Given the description of an element on the screen output the (x, y) to click on. 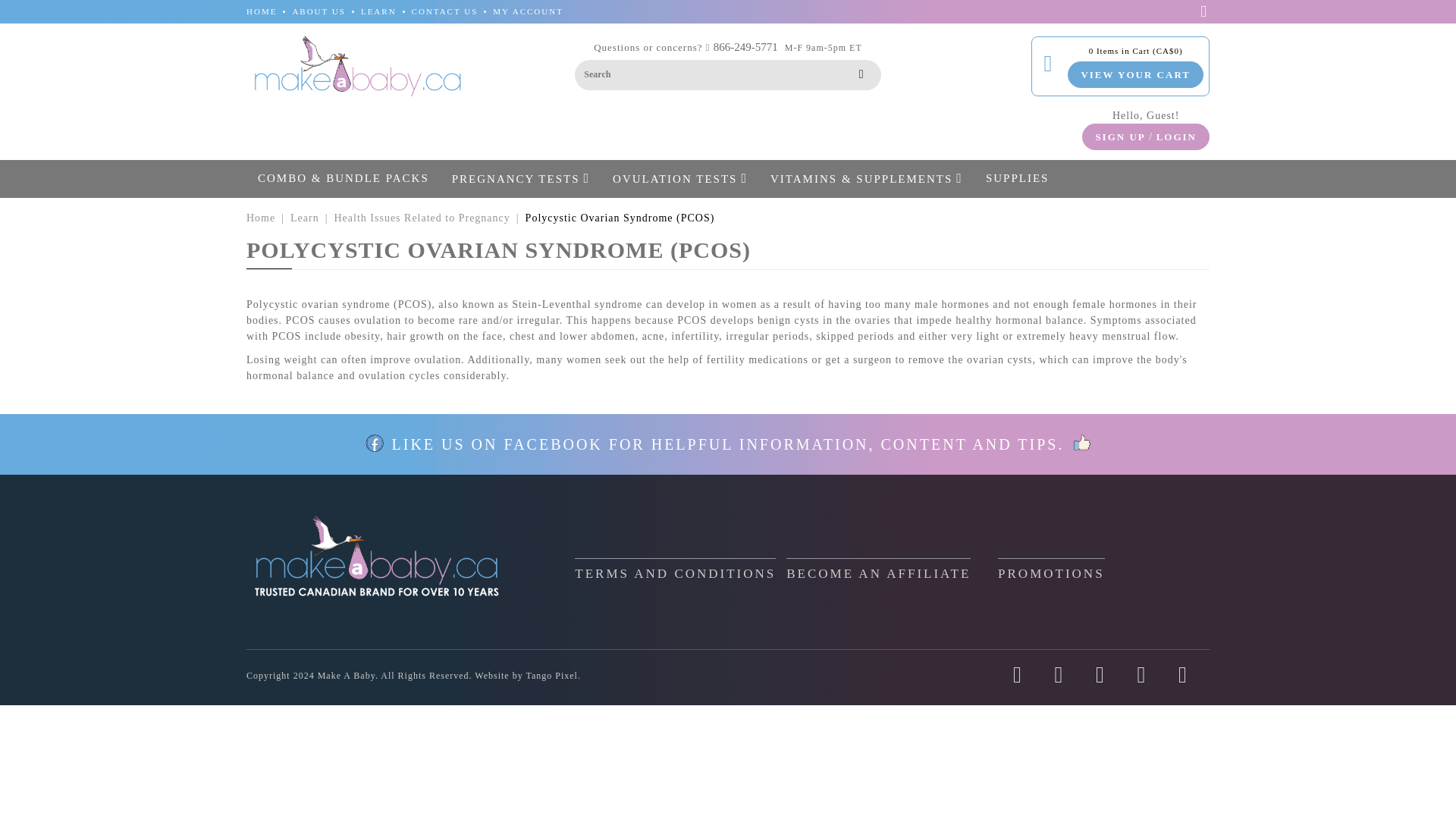
SIGN UP (1119, 136)
BECOME AN AFFILIATE (878, 568)
CONTACT US (445, 11)
Tango Pixel. (552, 675)
SUPPLIES (1016, 177)
ABOUT US (319, 11)
866-249-5771 (745, 46)
Learn (303, 217)
Home (260, 217)
Health Issues Related to Pregnancy (421, 217)
PREGNANCY TESTS (521, 177)
HOME (261, 11)
OVULATION TESTS (679, 177)
LOGIN (1176, 136)
